Given the description of an element on the screen output the (x, y) to click on. 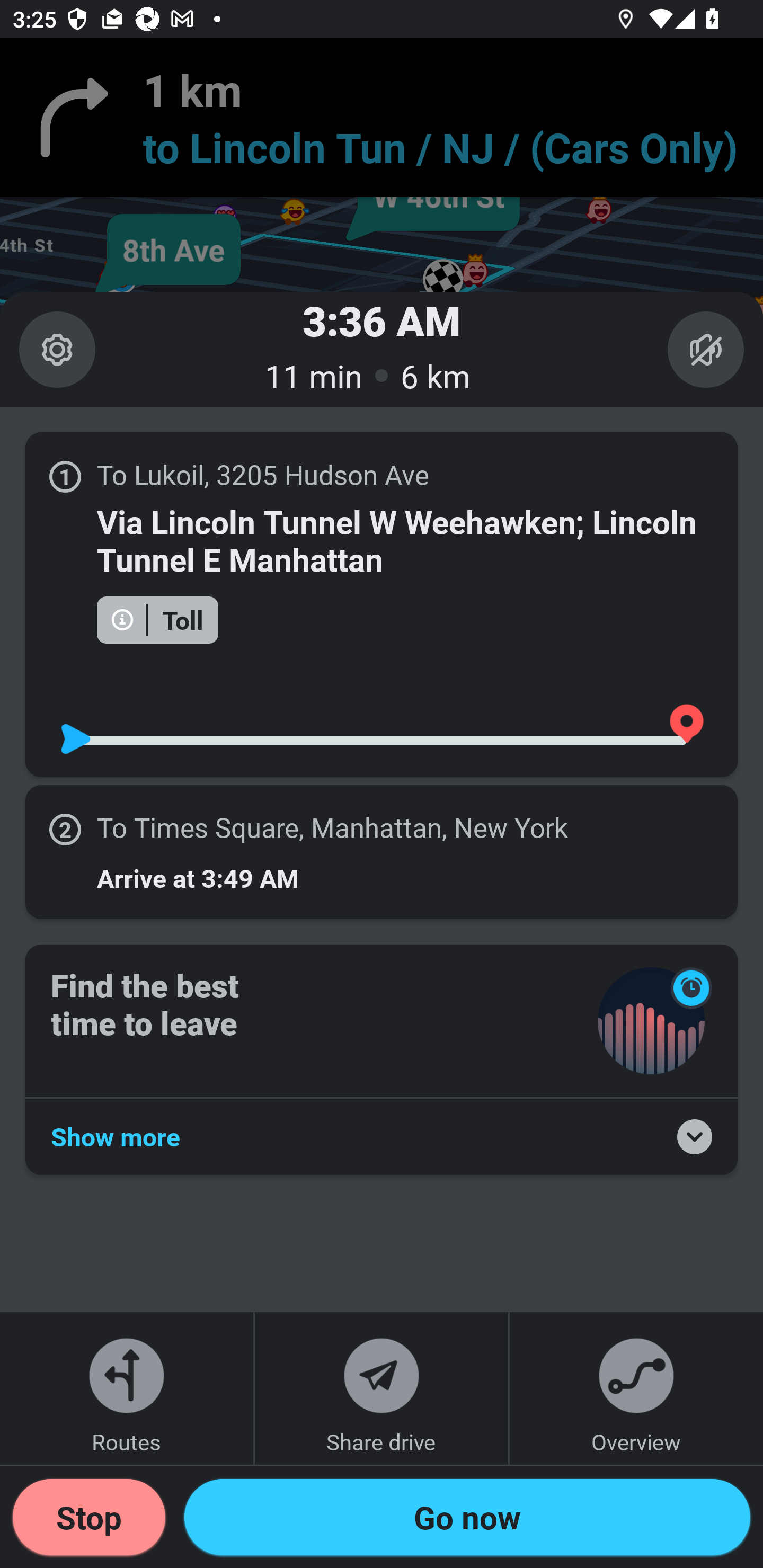
1 km to Lincoln Tun / NJ / (Cars Only) (381, 117)
3:36 AM 11 min 6 km (381, 348)
Toll (157, 618)
Find the best time to leave Show more (381, 1058)
Routes (126, 1388)
Share drive (381, 1388)
Overview (636, 1388)
Stop (88, 1516)
ETA_DRAWER_GO_BUTTON Go now (466, 1516)
